Given the description of an element on the screen output the (x, y) to click on. 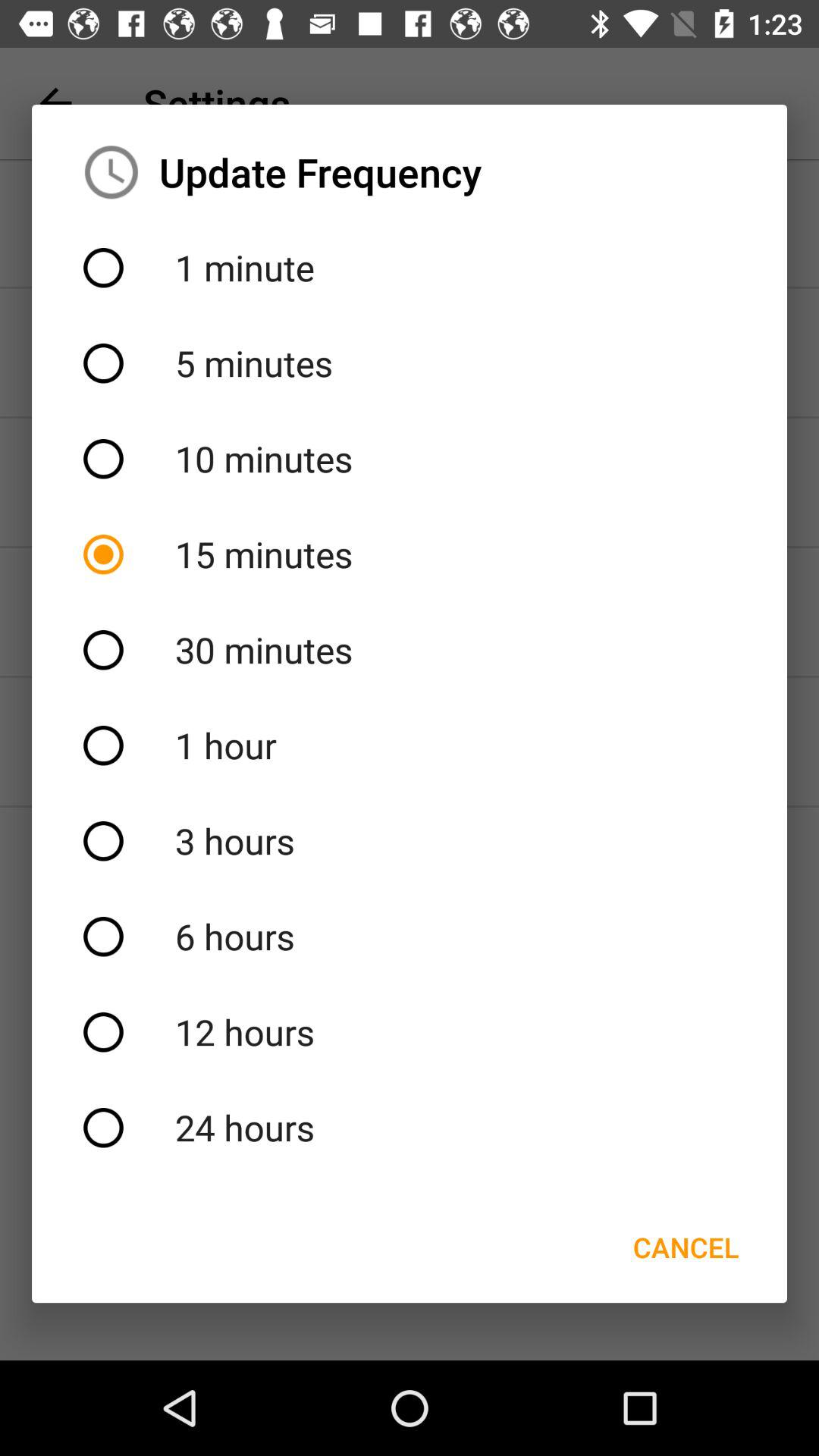
swipe until 30 minutes icon (409, 649)
